Given the description of an element on the screen output the (x, y) to click on. 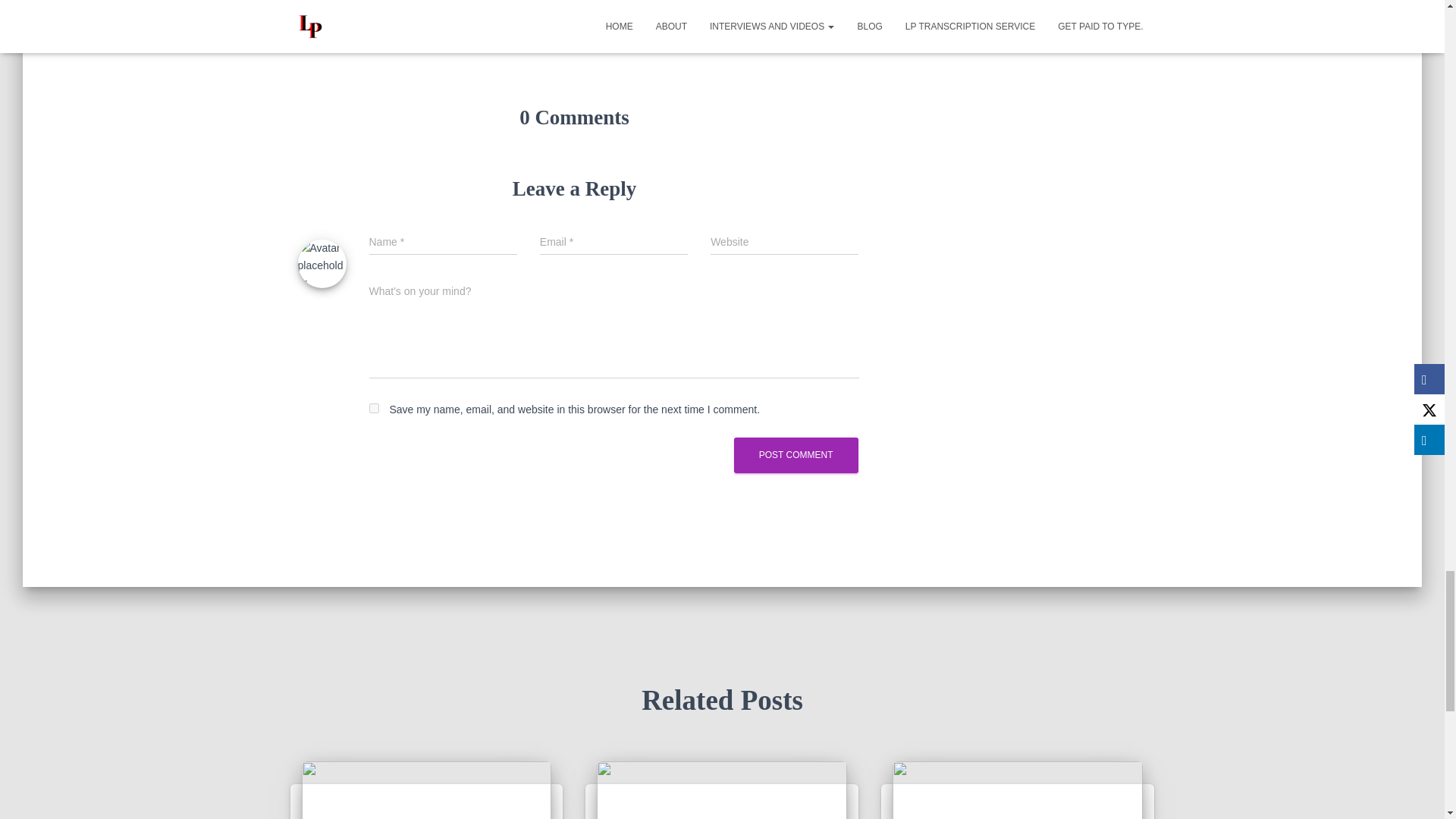
yes (373, 408)
Post Comment (796, 455)
Post Comment (796, 455)
